Given the description of an element on the screen output the (x, y) to click on. 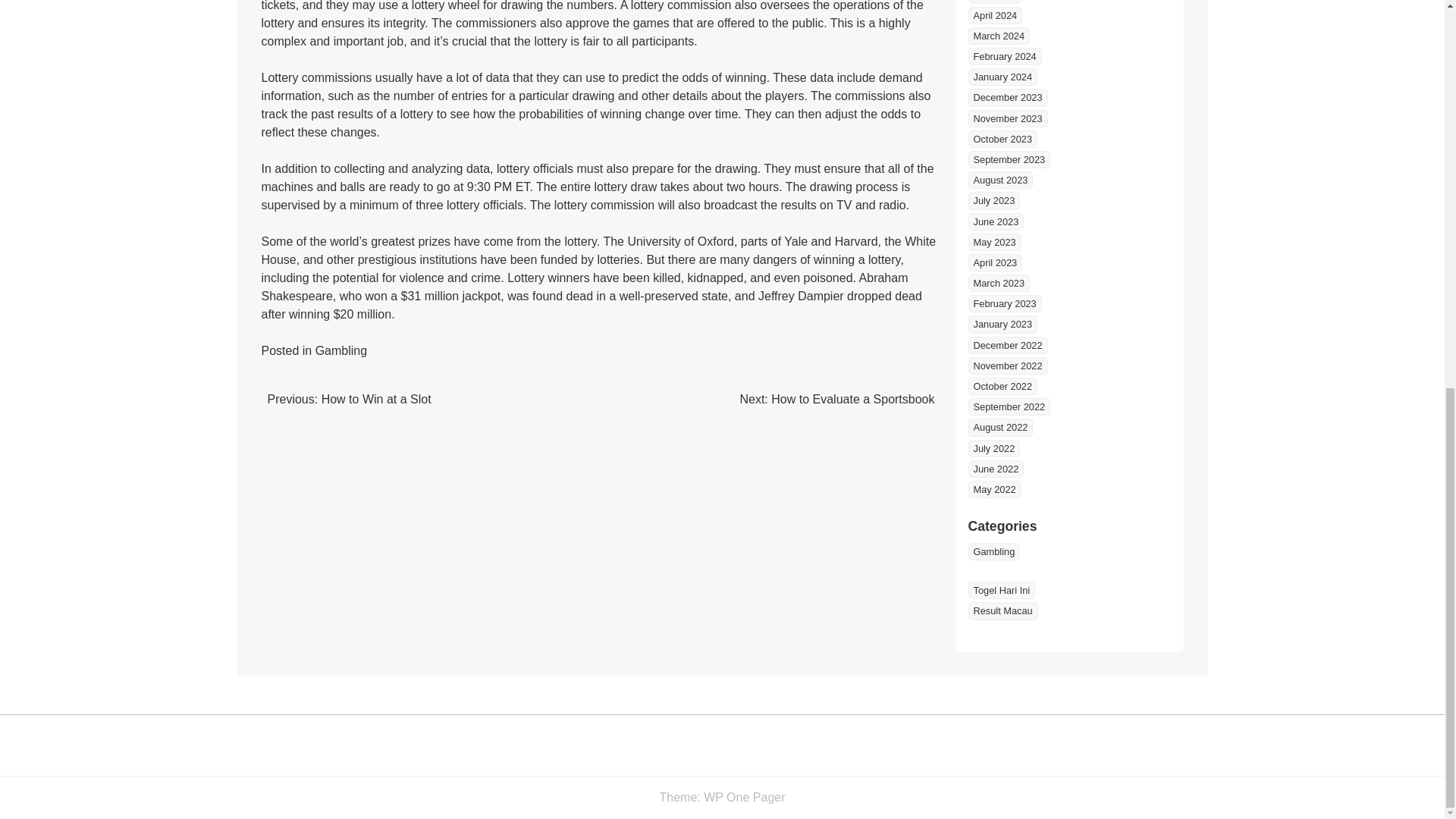
October 2022 (1002, 385)
September 2023 (1008, 159)
September 2022 (1008, 406)
May 2024 (994, 1)
Gambling (340, 350)
March 2023 (998, 282)
Next: How to Evaluate a Sportsbook (836, 399)
June 2022 (995, 468)
August 2022 (1000, 426)
January 2024 (1002, 76)
November 2023 (1007, 118)
October 2023 (1002, 139)
January 2023 (1002, 323)
March 2024 (998, 36)
December 2023 (1007, 97)
